Given the description of an element on the screen output the (x, y) to click on. 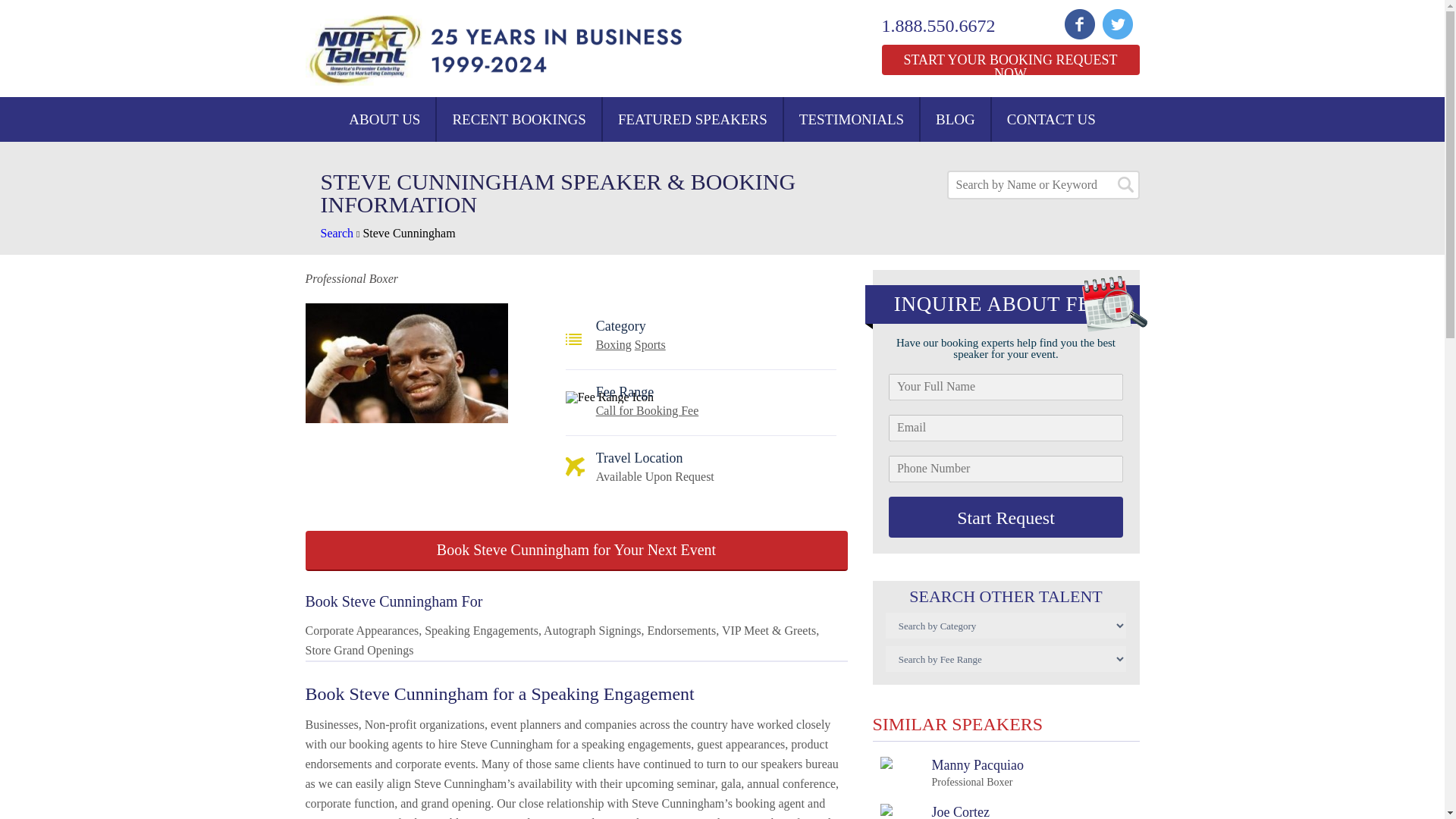
Steve Cunningham (408, 232)
Boxing (613, 344)
Sports (649, 344)
RECENT BOOKINGS (517, 119)
Call for Booking Fee (646, 410)
BLOG (938, 811)
START YOUR BOOKING REQUEST NOW (955, 119)
ABOUT US (1009, 60)
1.888.550.6672 (384, 119)
Start Request (947, 25)
Book Steve Cunningham for Your Next Event (1006, 516)
CONTACT US (575, 550)
Search (1050, 119)
FEATURED SPEAKERS (336, 232)
